Given the description of an element on the screen output the (x, y) to click on. 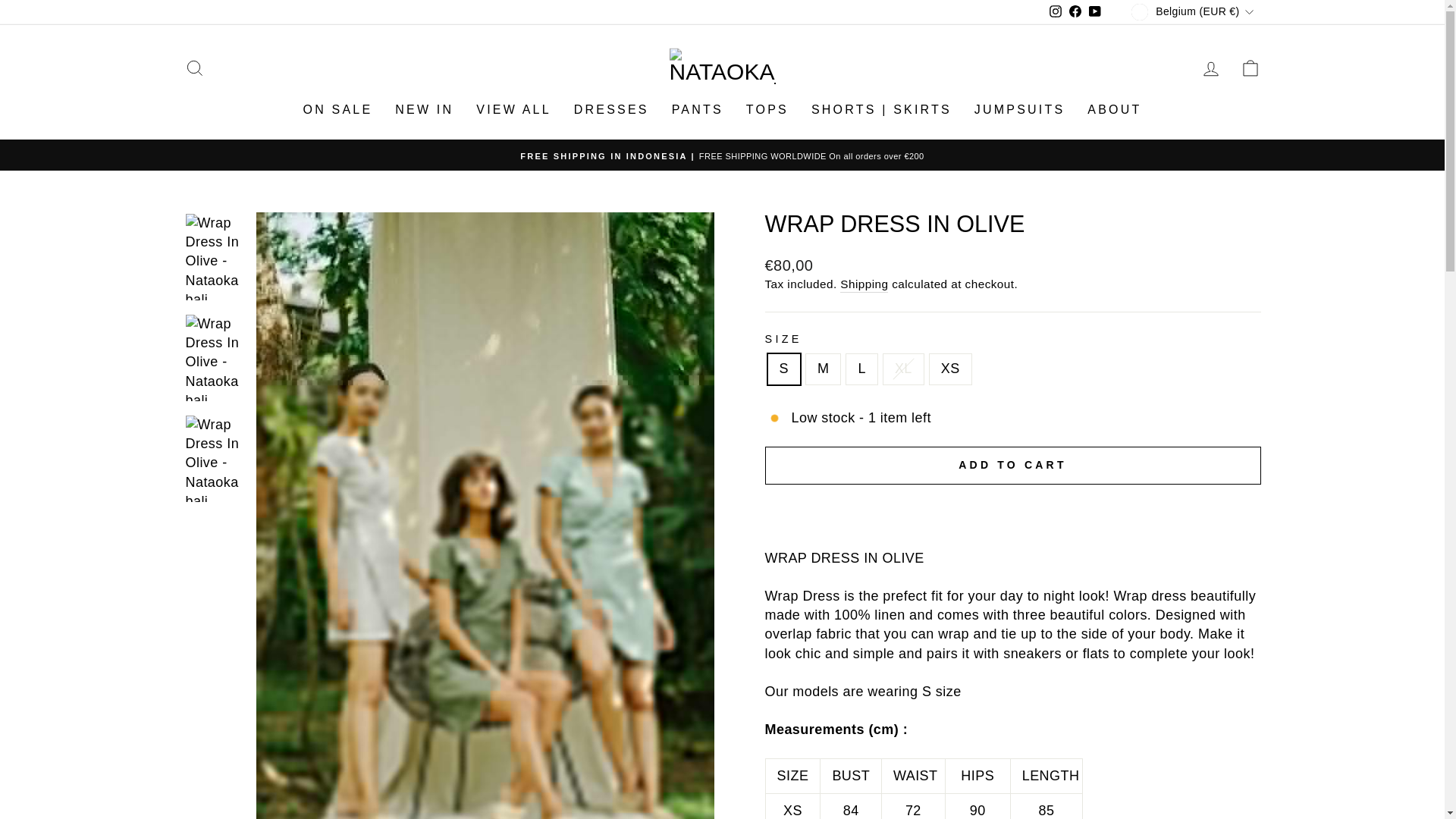
Nataoka on Instagram (1055, 11)
YouTube (1094, 11)
ICON-SEARCH (194, 67)
ACCOUNT (1055, 11)
S (1210, 68)
XL (1074, 11)
L (1094, 11)
instagram (1074, 11)
M (1055, 10)
